Given the description of an element on the screen output the (x, y) to click on. 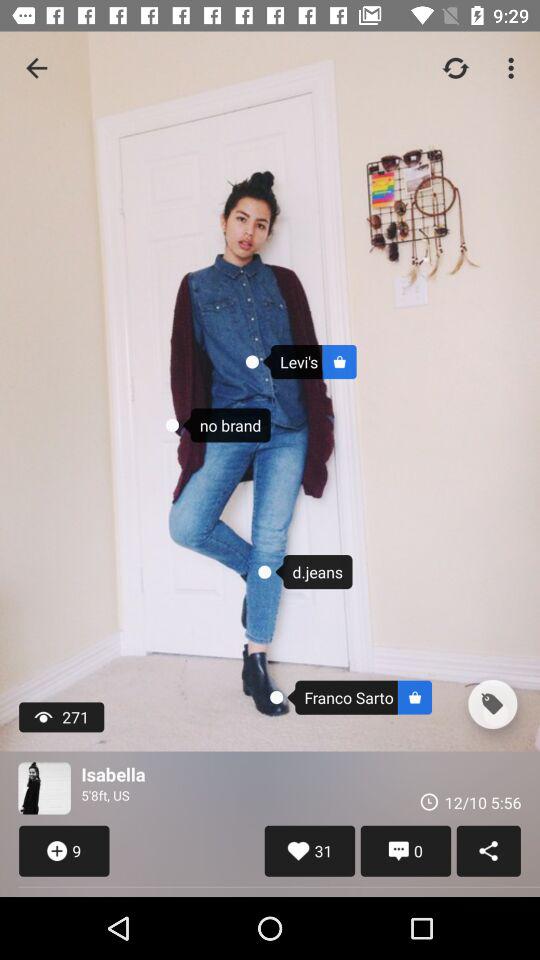
click the icon above the 9 icon (44, 787)
